Given the description of an element on the screen output the (x, y) to click on. 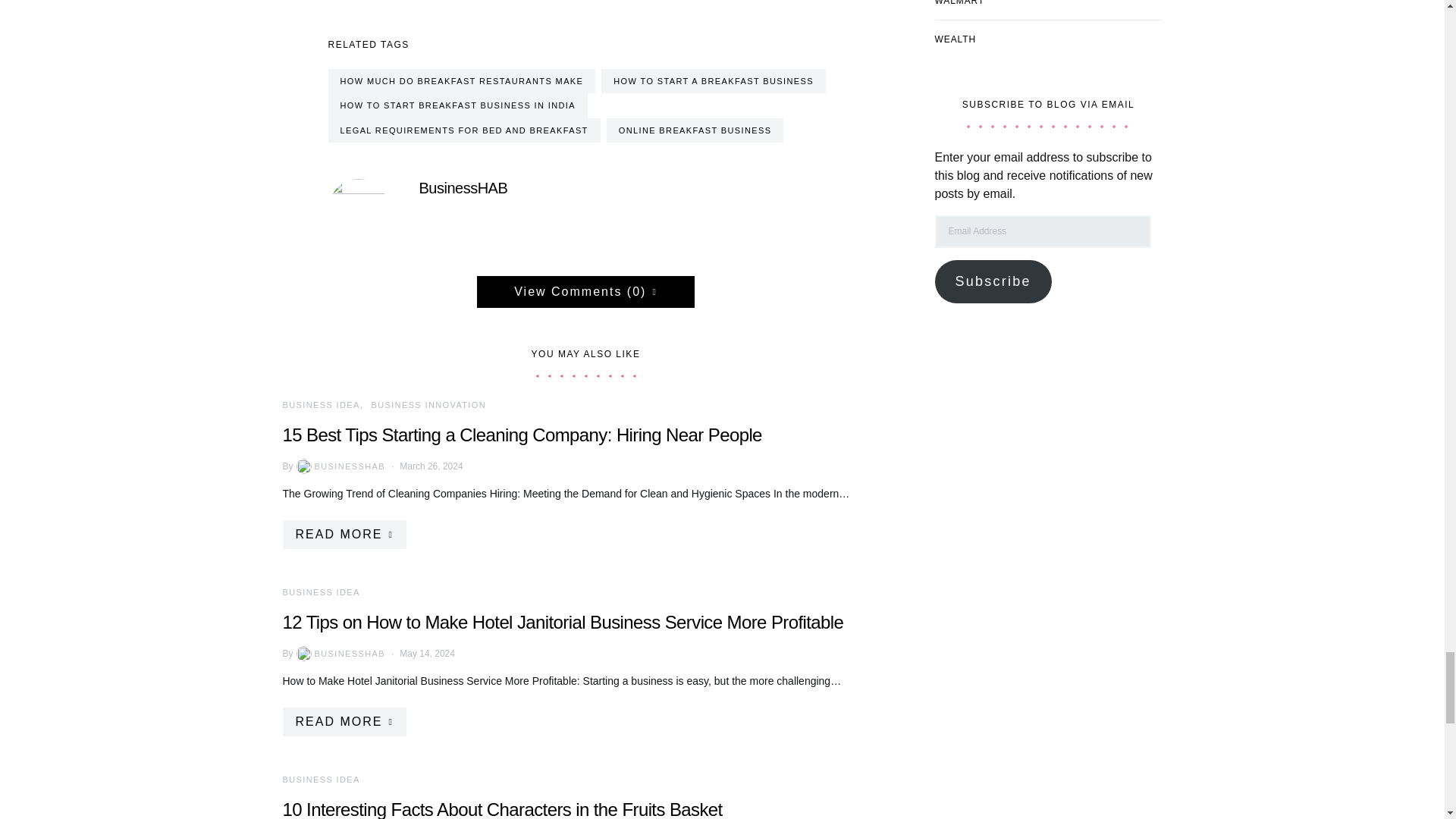
View all posts by BusinessHAB (339, 466)
ONLINE BREAKFAST BUSINESS (695, 130)
LEGAL REQUIREMENTS FOR BED AND BREAKFAST (463, 130)
HOW TO START A BREAKFAST BUSINESS (713, 81)
HOW MUCH DO BREAKFAST RESTAURANTS MAKE (461, 81)
BusinessHAB (462, 187)
HOW TO START BREAKFAST BUSINESS IN INDIA (457, 105)
View all posts by BusinessHAB (339, 653)
